Given the description of an element on the screen output the (x, y) to click on. 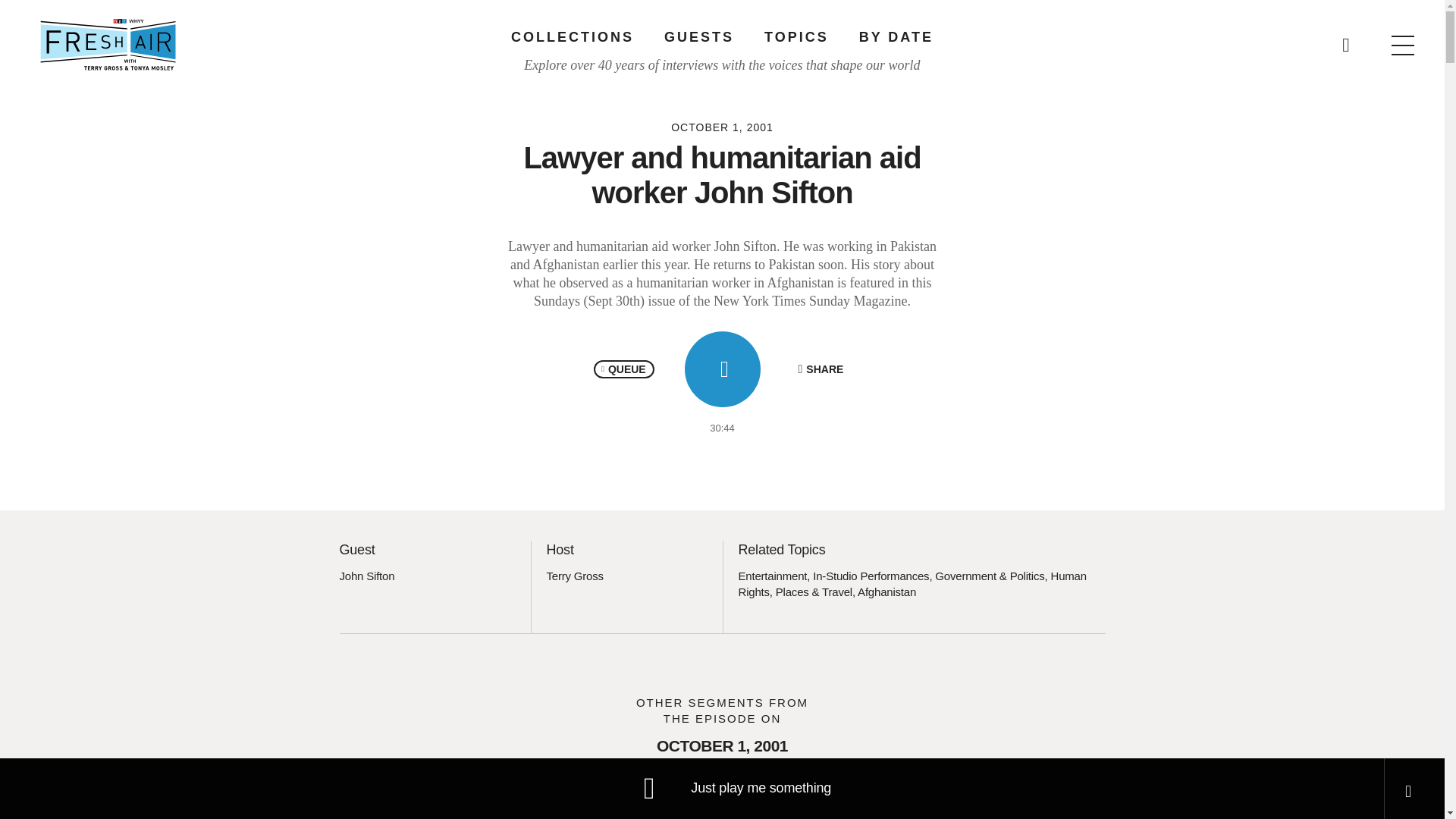
Home (108, 44)
BY DATE (896, 36)
TOPICS (796, 36)
SHARE (820, 369)
GUESTS (698, 36)
Terry Gross (574, 575)
John Sifton (366, 575)
COLLECTIONS (572, 36)
QUEUE (622, 369)
